Given the description of an element on the screen output the (x, y) to click on. 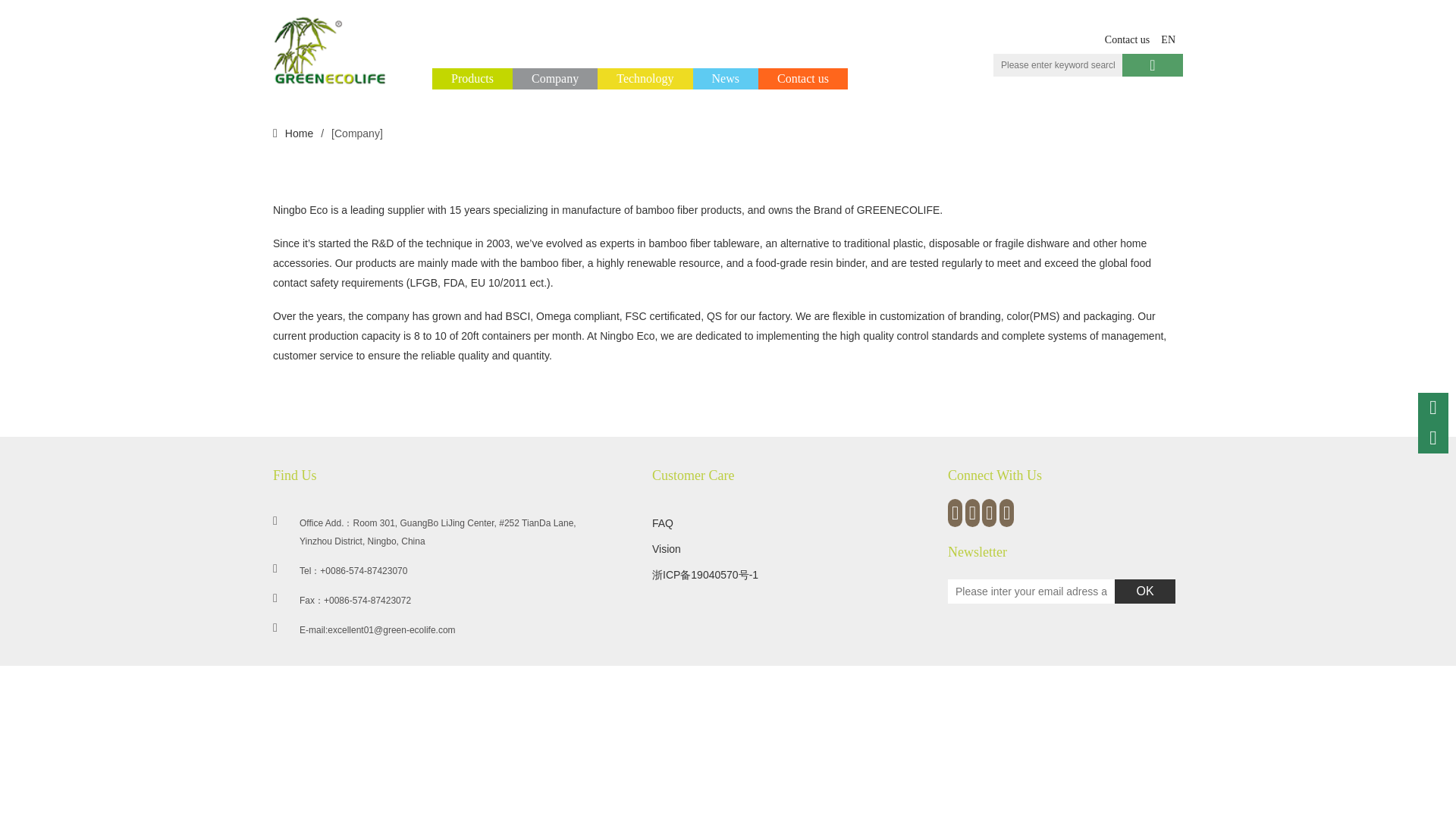
ENGLISH (1166, 39)
Technology (644, 78)
Contact us (802, 78)
Home (296, 133)
OK (1144, 591)
Company (554, 78)
EN (1166, 39)
Products (472, 78)
Vision (666, 548)
Vision (666, 548)
